Given the description of an element on the screen output the (x, y) to click on. 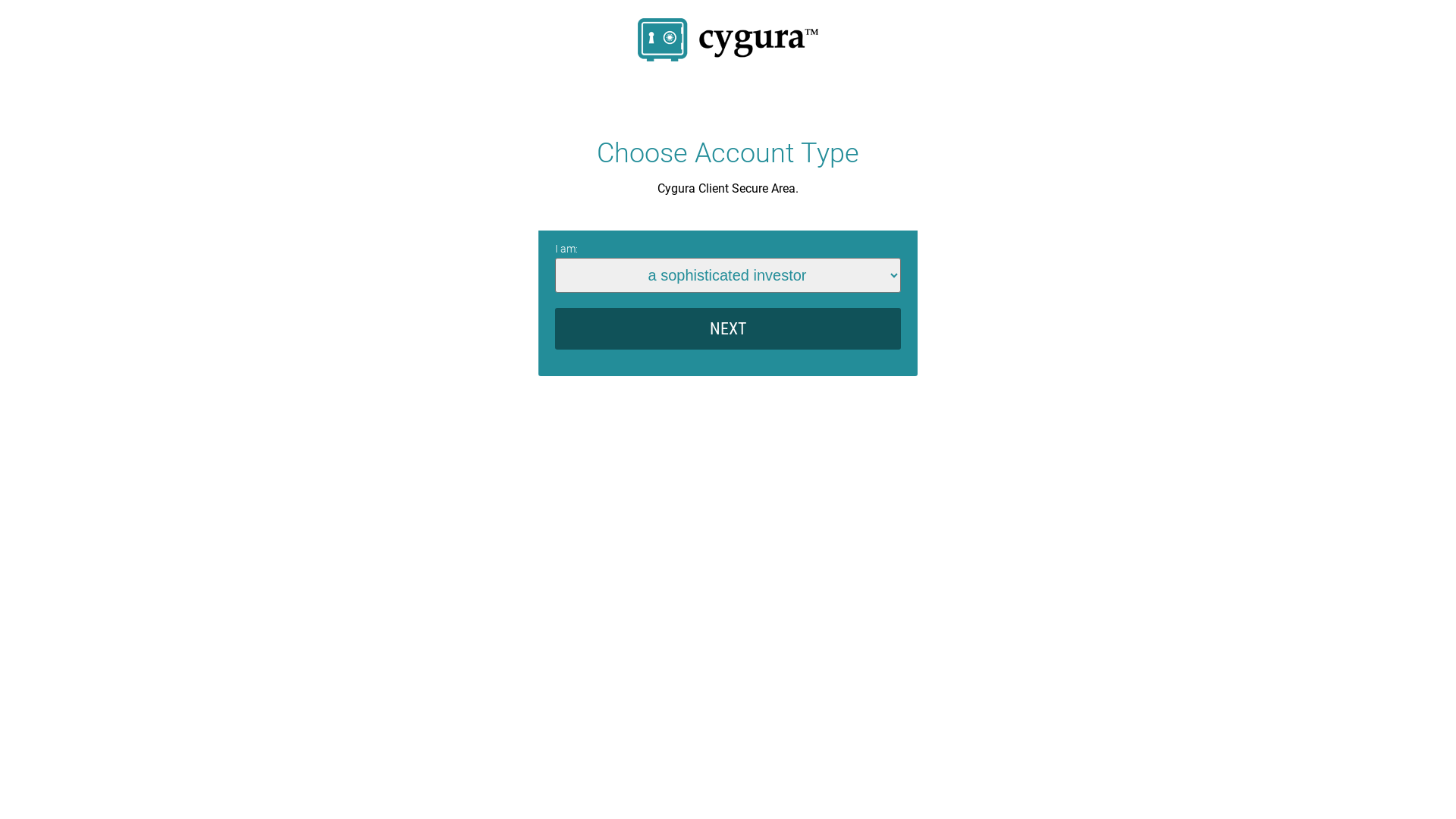
Next Element type: text (727, 328)
